Given the description of an element on the screen output the (x, y) to click on. 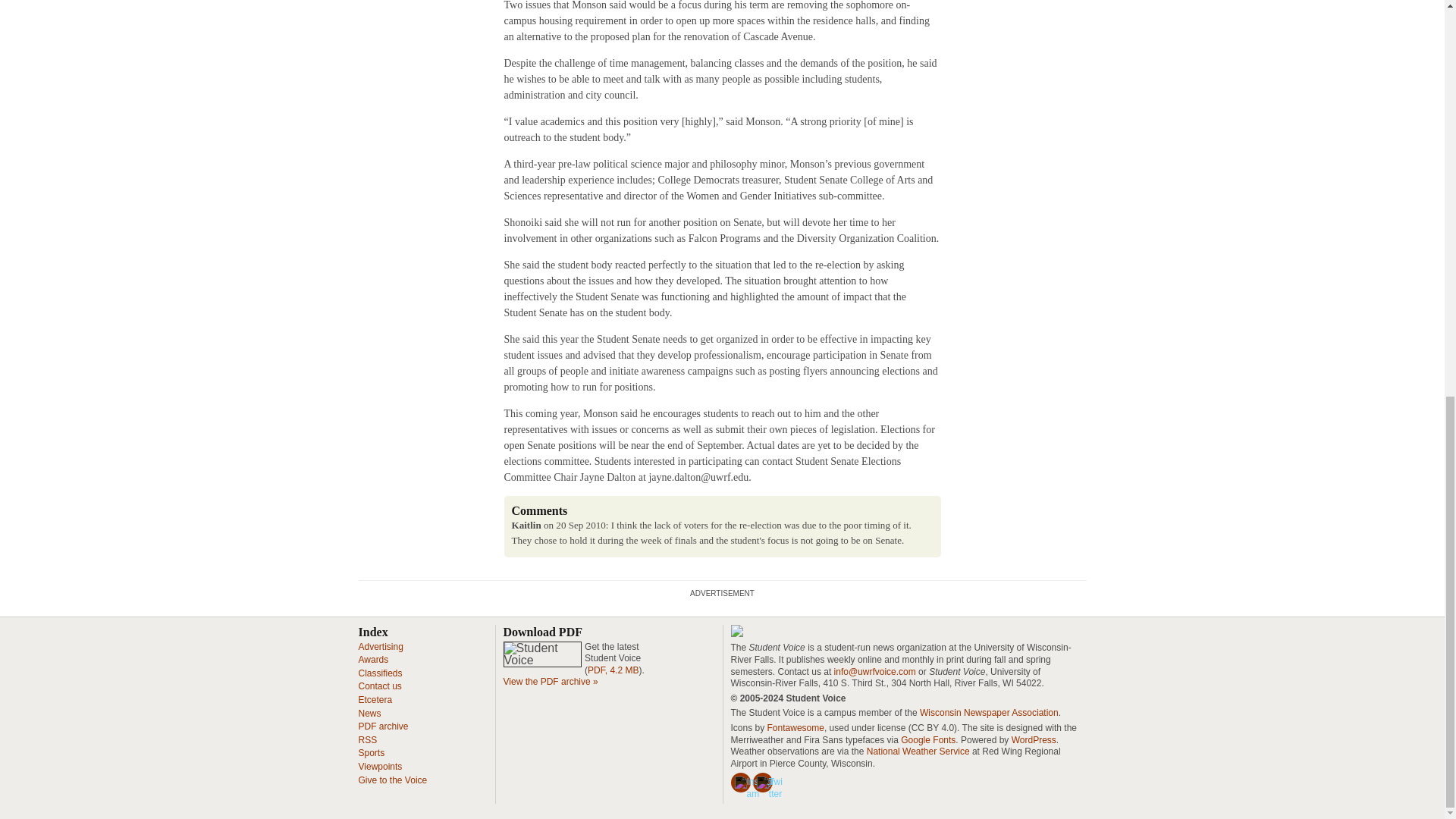
Give to the Voice (392, 778)
PDF, 4.2 MB (613, 670)
Contact us (379, 685)
Sports (371, 752)
News (369, 713)
RSS (367, 739)
Contact us (379, 685)
PDF archive (382, 726)
Viewpoints (379, 766)
Fontawesome (795, 727)
